Given the description of an element on the screen output the (x, y) to click on. 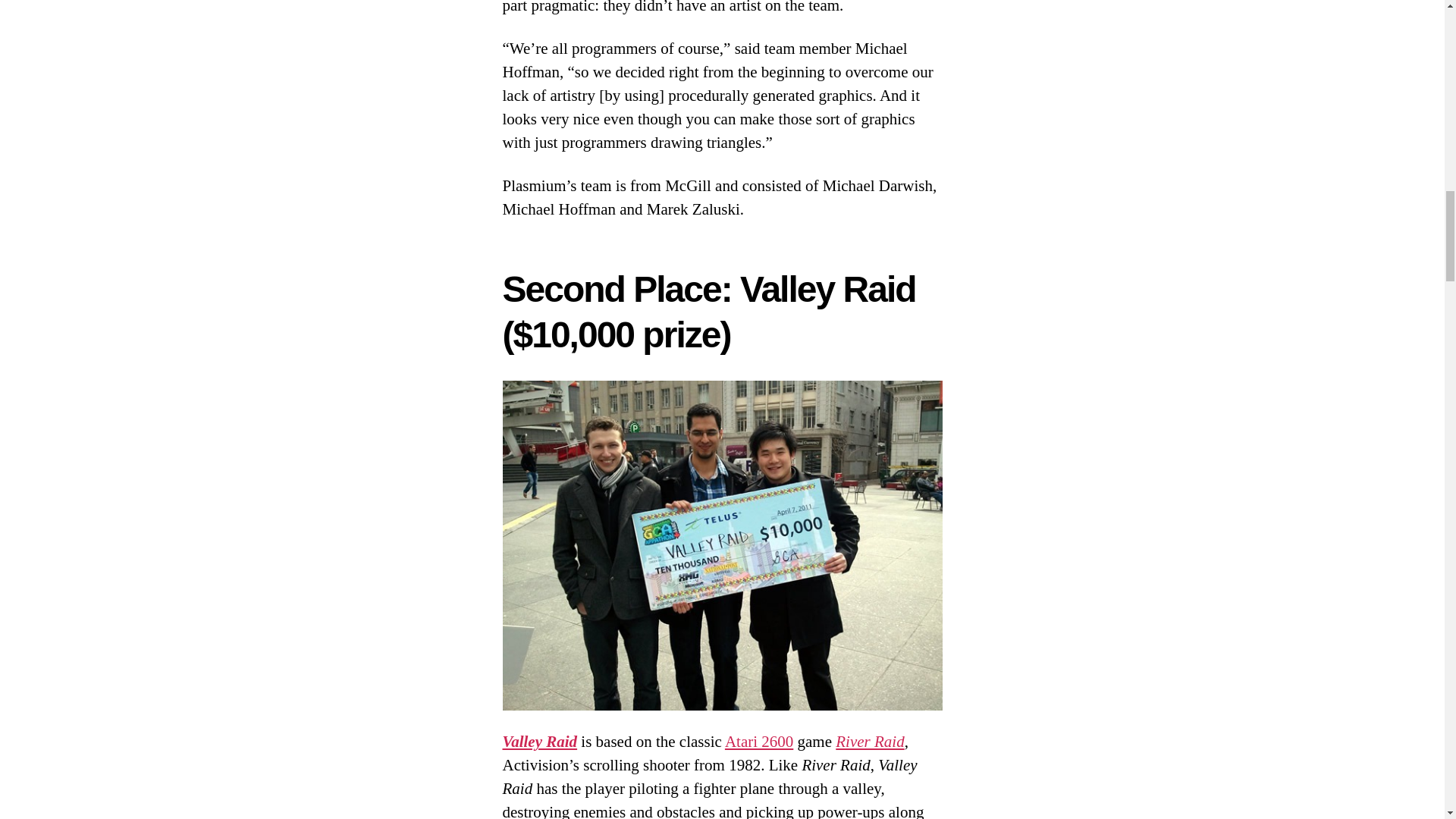
River Raid (869, 741)
Valley Raid (539, 741)
Atari 2600 (759, 741)
